Given the description of an element on the screen output the (x, y) to click on. 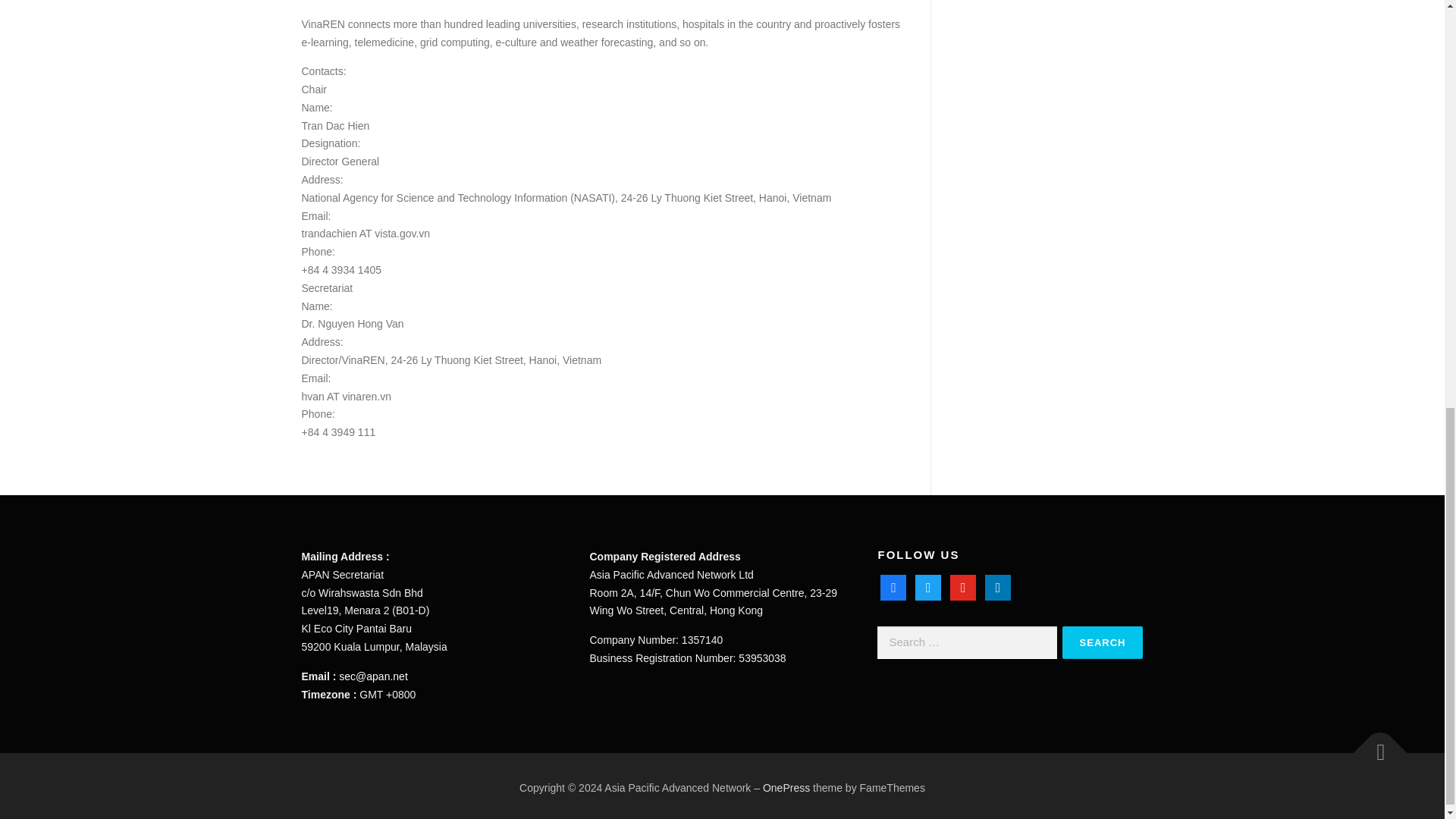
Facebook (892, 586)
Search (1102, 642)
Linkedin (997, 586)
Back To Top (1372, 745)
Youtube (962, 586)
Twitter (927, 586)
Search (1102, 642)
